Given the description of an element on the screen output the (x, y) to click on. 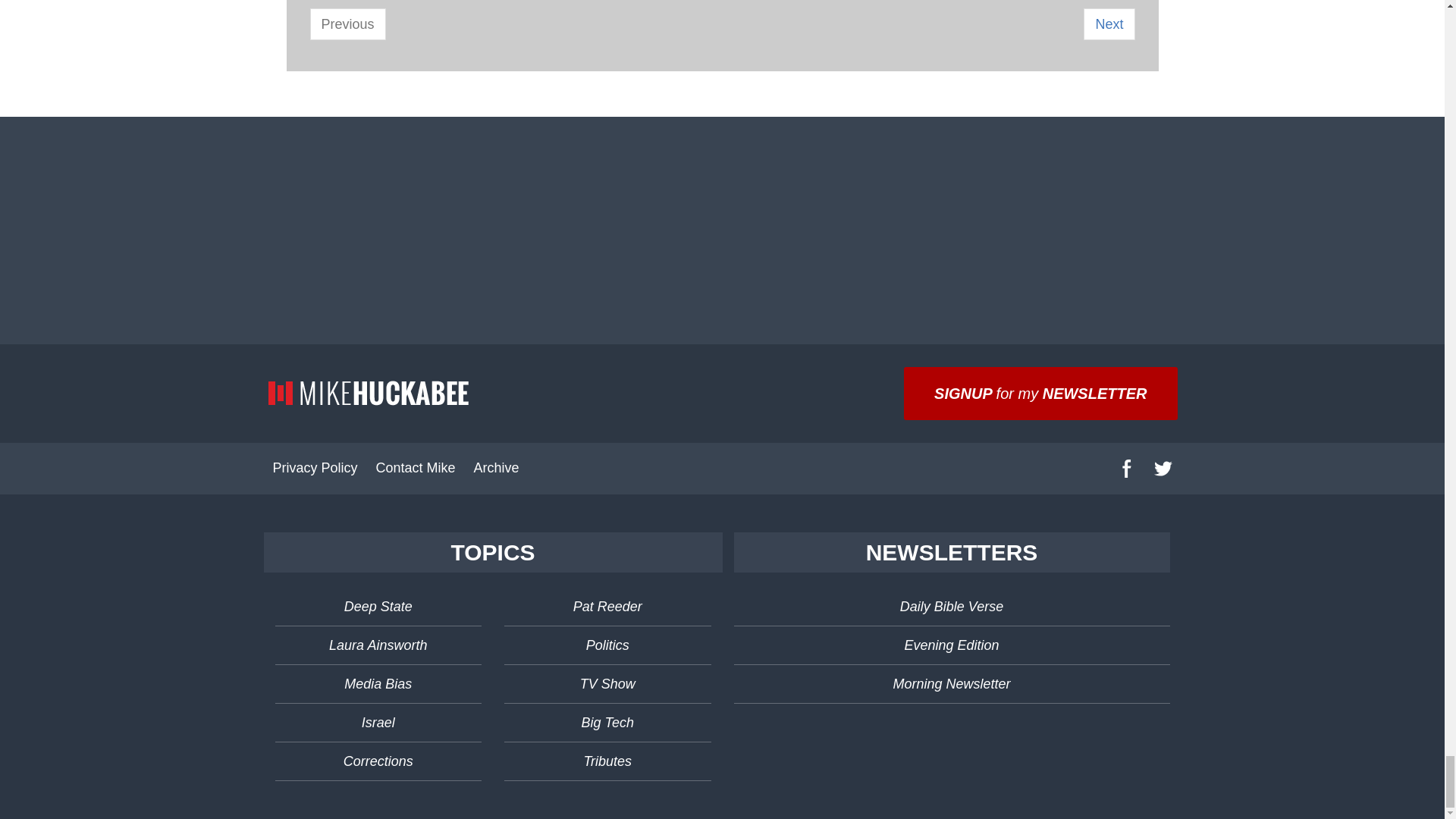
Twitter Icon (1163, 468)
Facebook Icon (1126, 468)
